Given the description of an element on the screen output the (x, y) to click on. 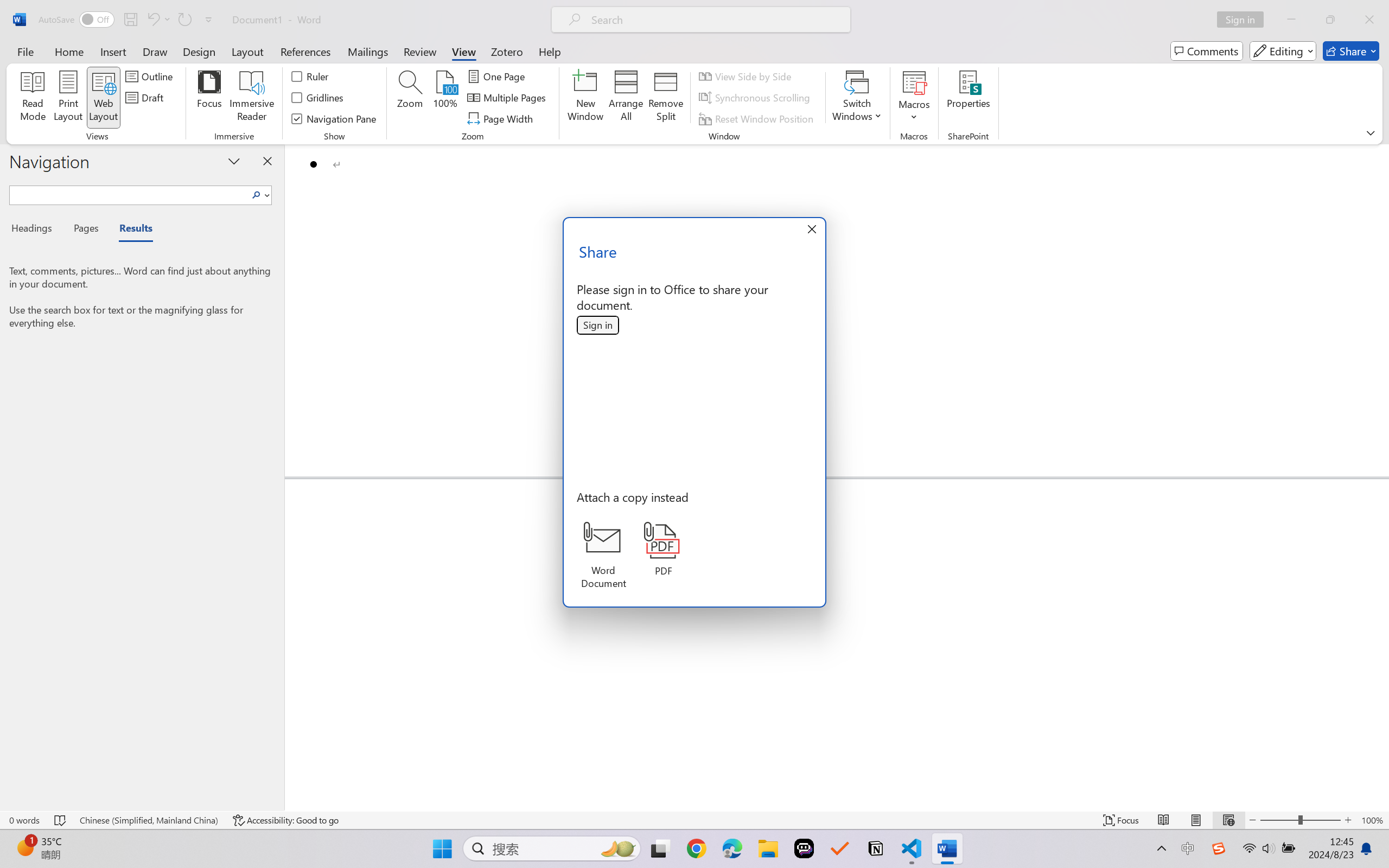
Synchronous Scrolling (755, 97)
Navigation Pane (334, 118)
Word Document (603, 555)
Page Width (501, 118)
Focus (209, 97)
Ruler (309, 75)
PDF (663, 549)
